Given the description of an element on the screen output the (x, y) to click on. 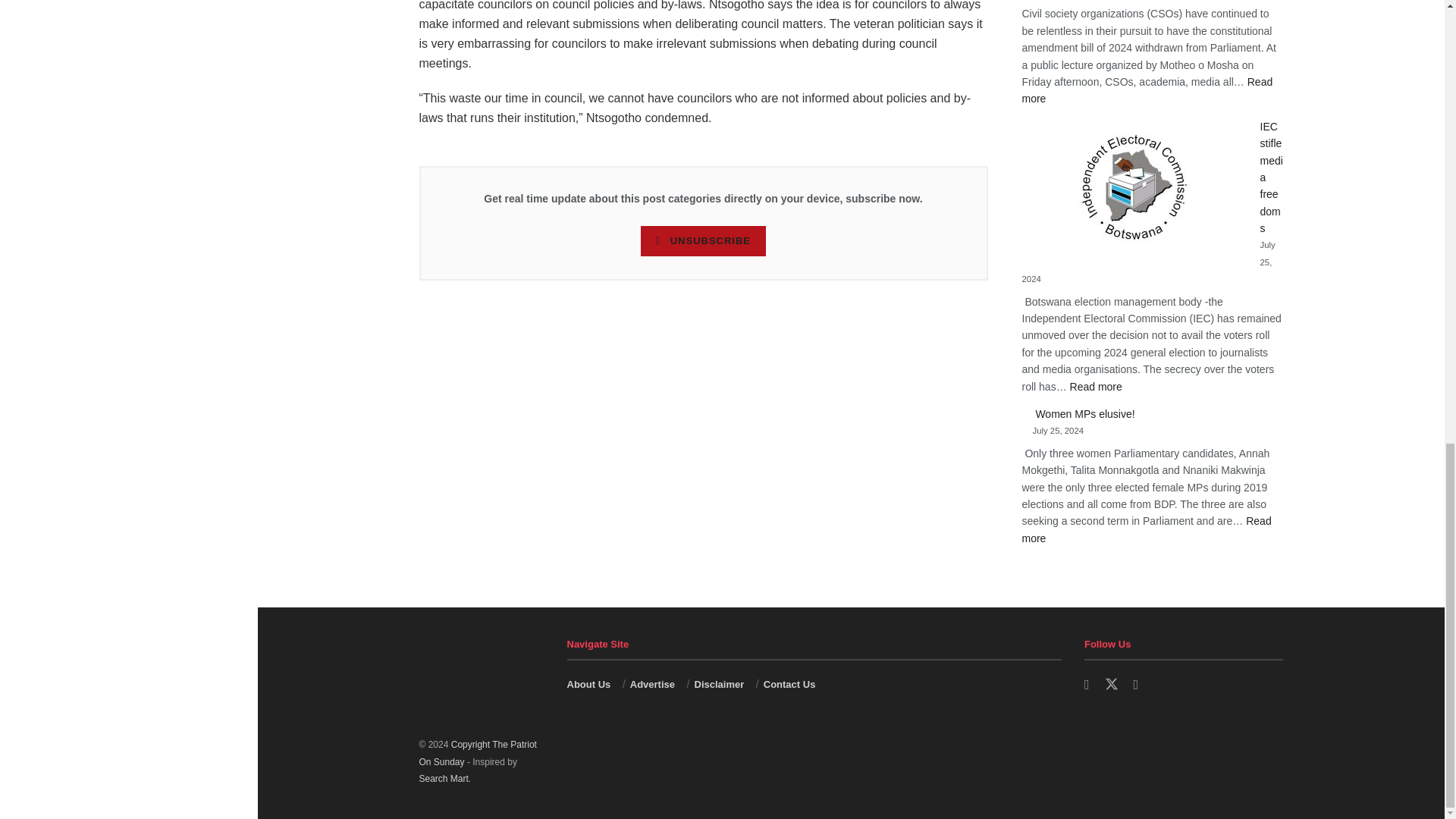
Search Mart (443, 778)
The Patriot Sunday News (477, 752)
